Given the description of an element on the screen output the (x, y) to click on. 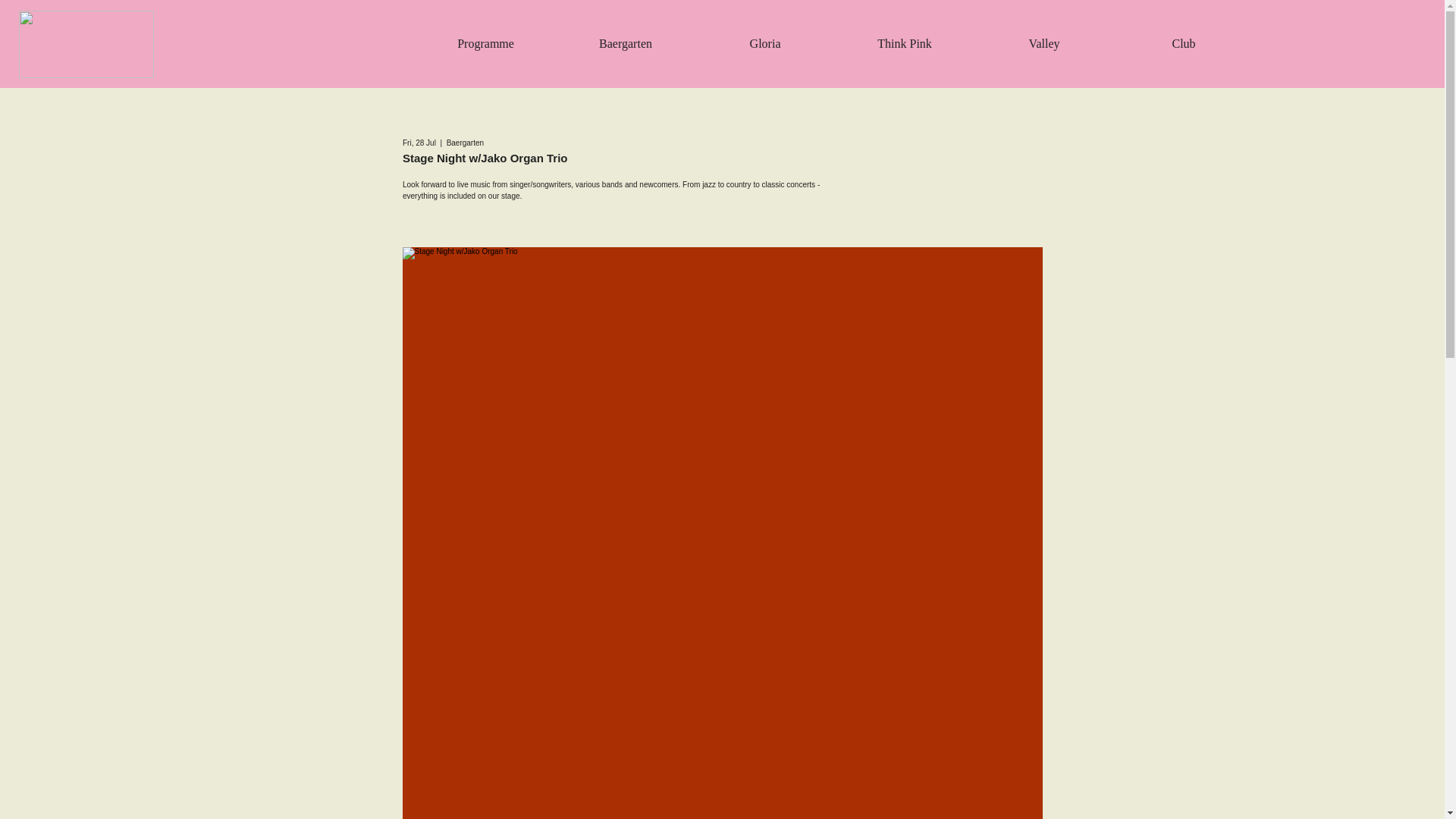
Club (1183, 43)
Baergarten (625, 43)
Valley (1043, 43)
Programme (485, 43)
Gloria (764, 43)
Think Pink (904, 43)
